Given the description of an element on the screen output the (x, y) to click on. 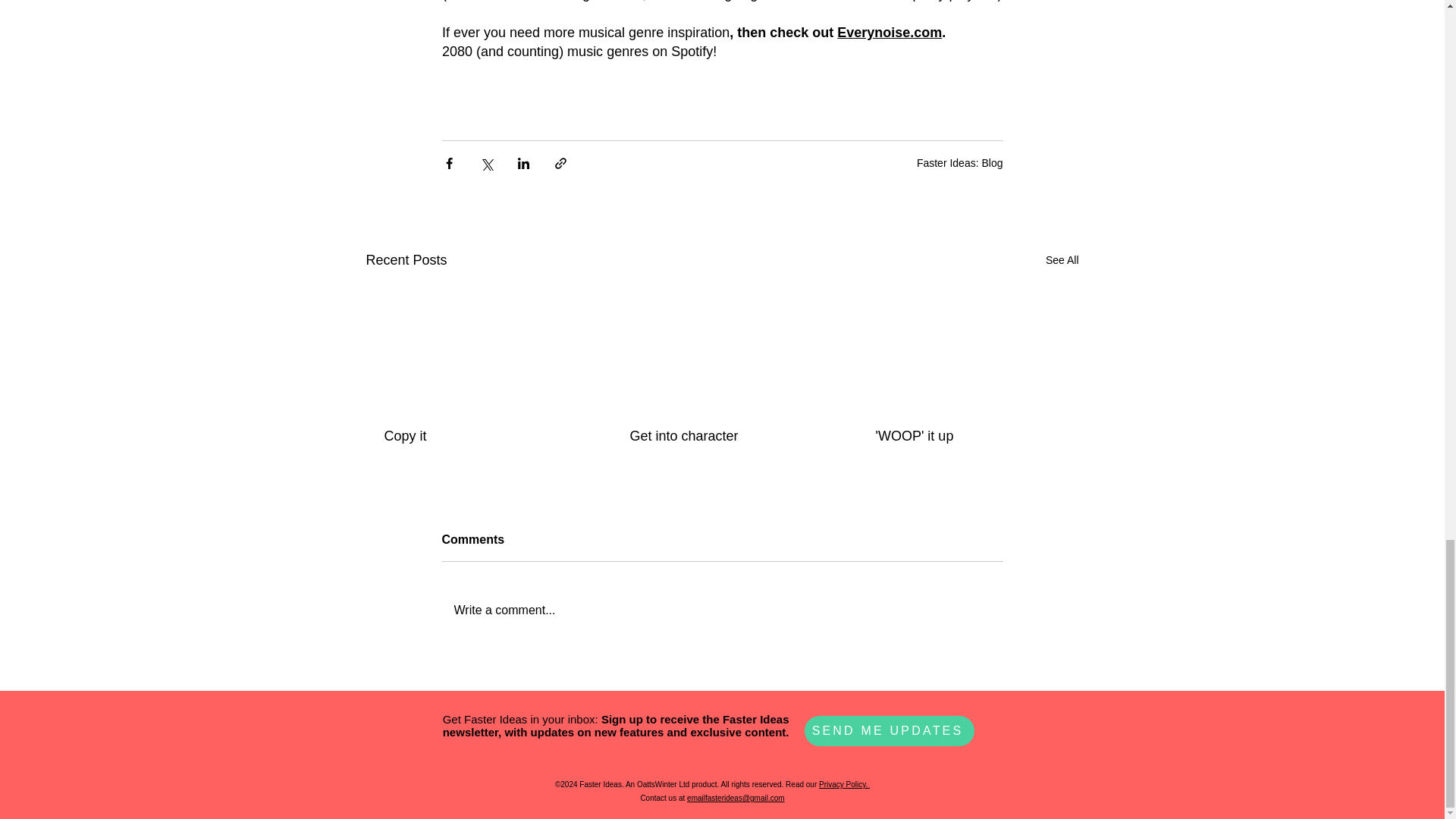
See All (1061, 260)
'WOOP' it up (966, 436)
Write a comment... (722, 609)
Get into character (720, 436)
Everynoise.com (889, 32)
SEND ME UPDATES (888, 730)
Privacy Policy.  (843, 784)
Copy it (475, 436)
Faster Ideas: Blog (960, 162)
